Given the description of an element on the screen output the (x, y) to click on. 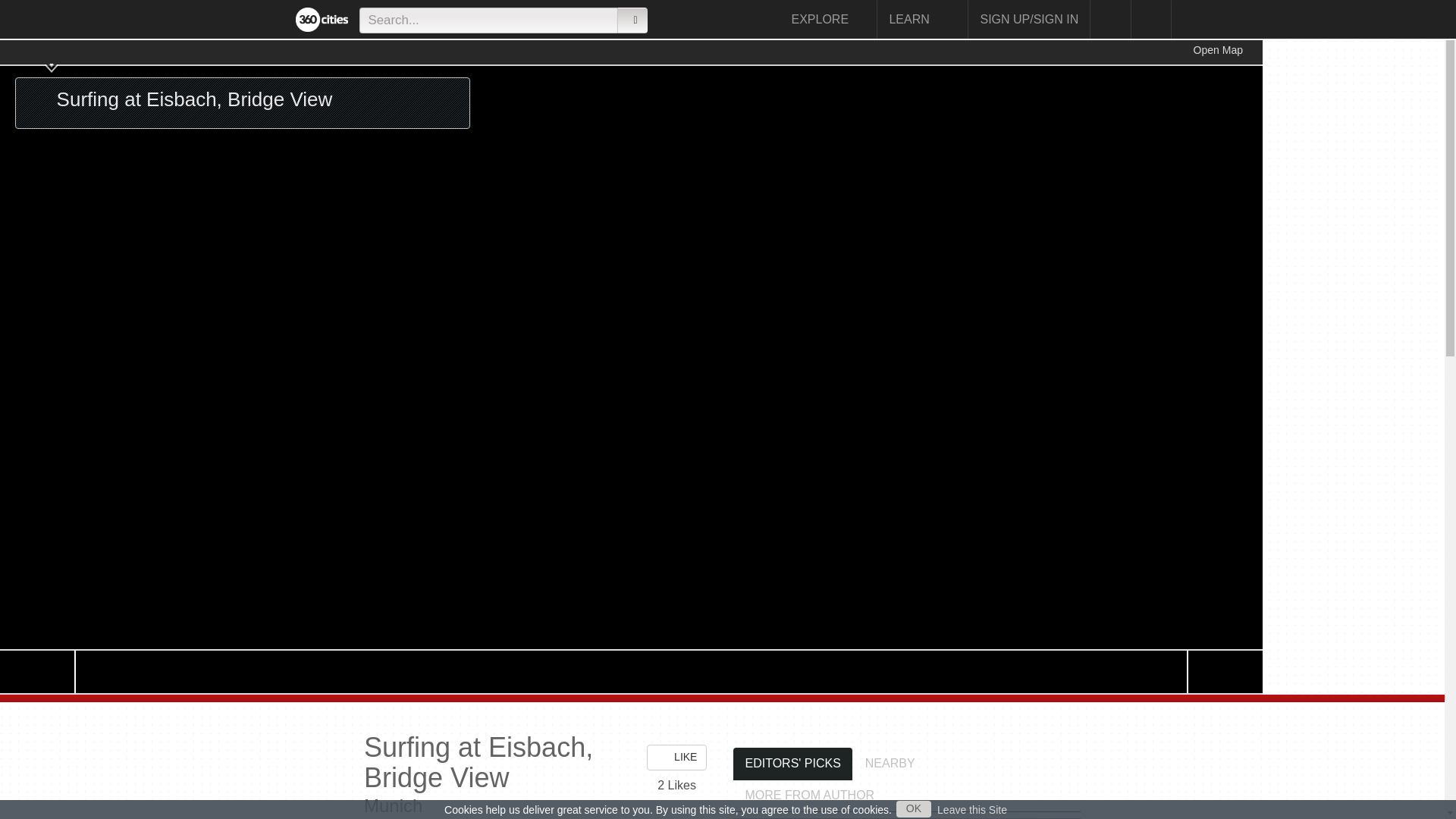
EXPLORE (827, 19)
LEARN (922, 19)
